Given the description of an element on the screen output the (x, y) to click on. 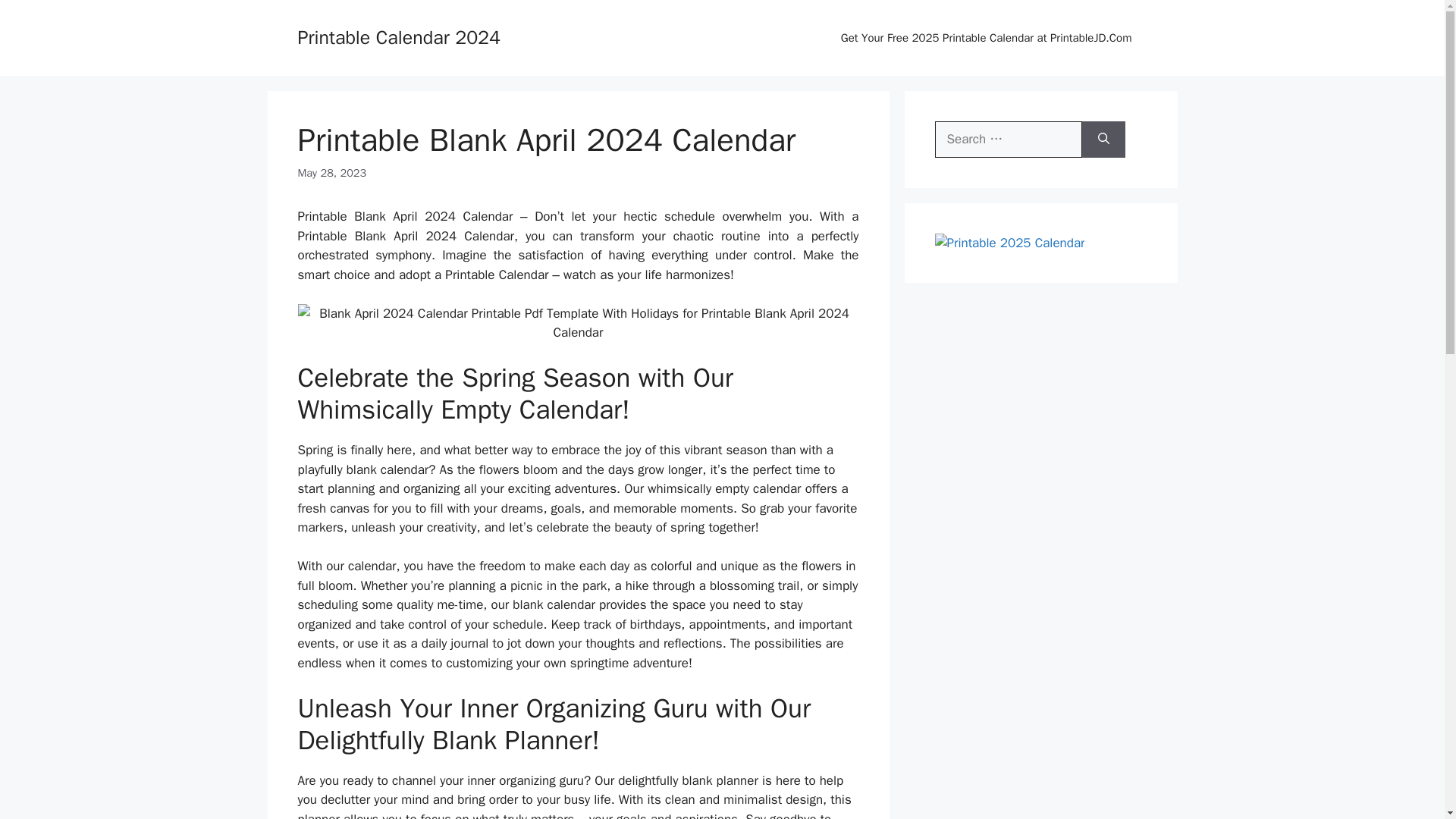
Get Your Free 2025 Printable Calendar at PrintableJD.Com (986, 37)
Search for: (1007, 139)
Printable Calendar 2024 (398, 37)
